Given the description of an element on the screen output the (x, y) to click on. 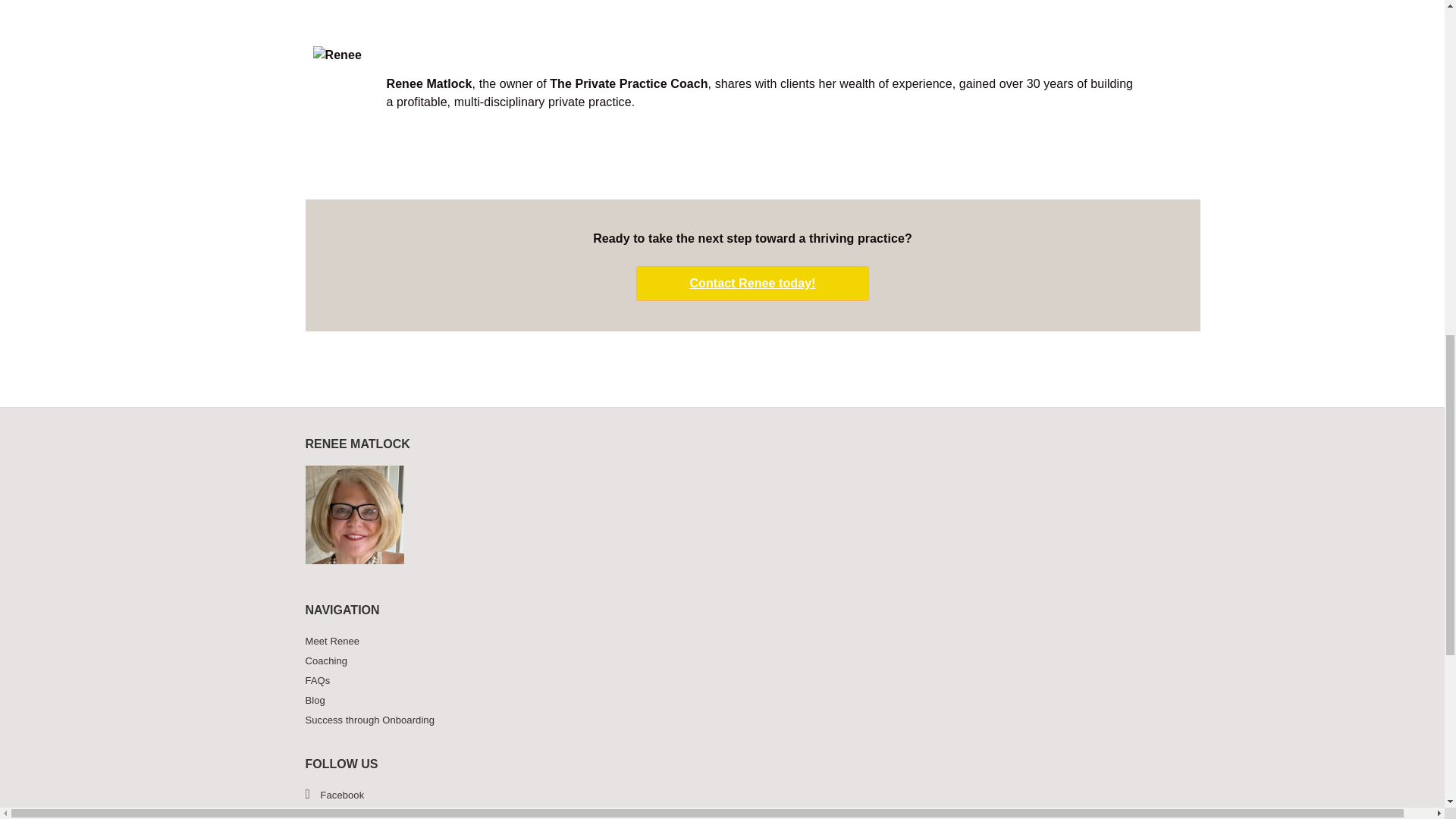
Coaching (721, 660)
Renee (345, 83)
Success through Onboarding (721, 720)
Meet Renee (721, 641)
FAQs (721, 680)
Contact Renee today! (752, 283)
Blog (721, 700)
